Given the description of an element on the screen output the (x, y) to click on. 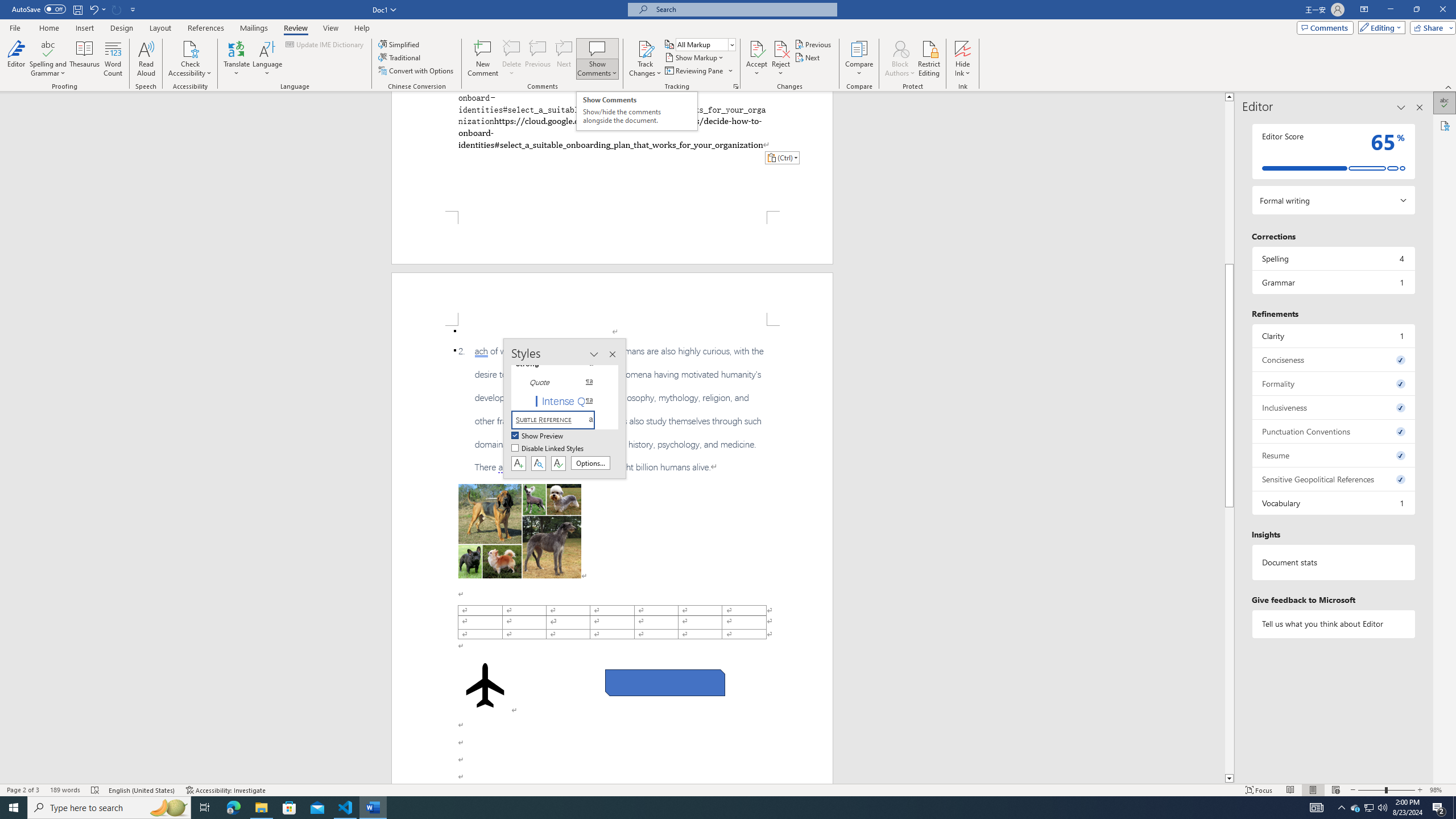
Delete (511, 48)
Page Number Page 2 of 3 (22, 790)
Undo Paste (96, 9)
Class: NetUIButton (558, 463)
Thesaurus... (84, 58)
Track Changes (644, 48)
Reject and Move to Next (780, 48)
Show Comments (597, 48)
